Given the description of an element on the screen output the (x, y) to click on. 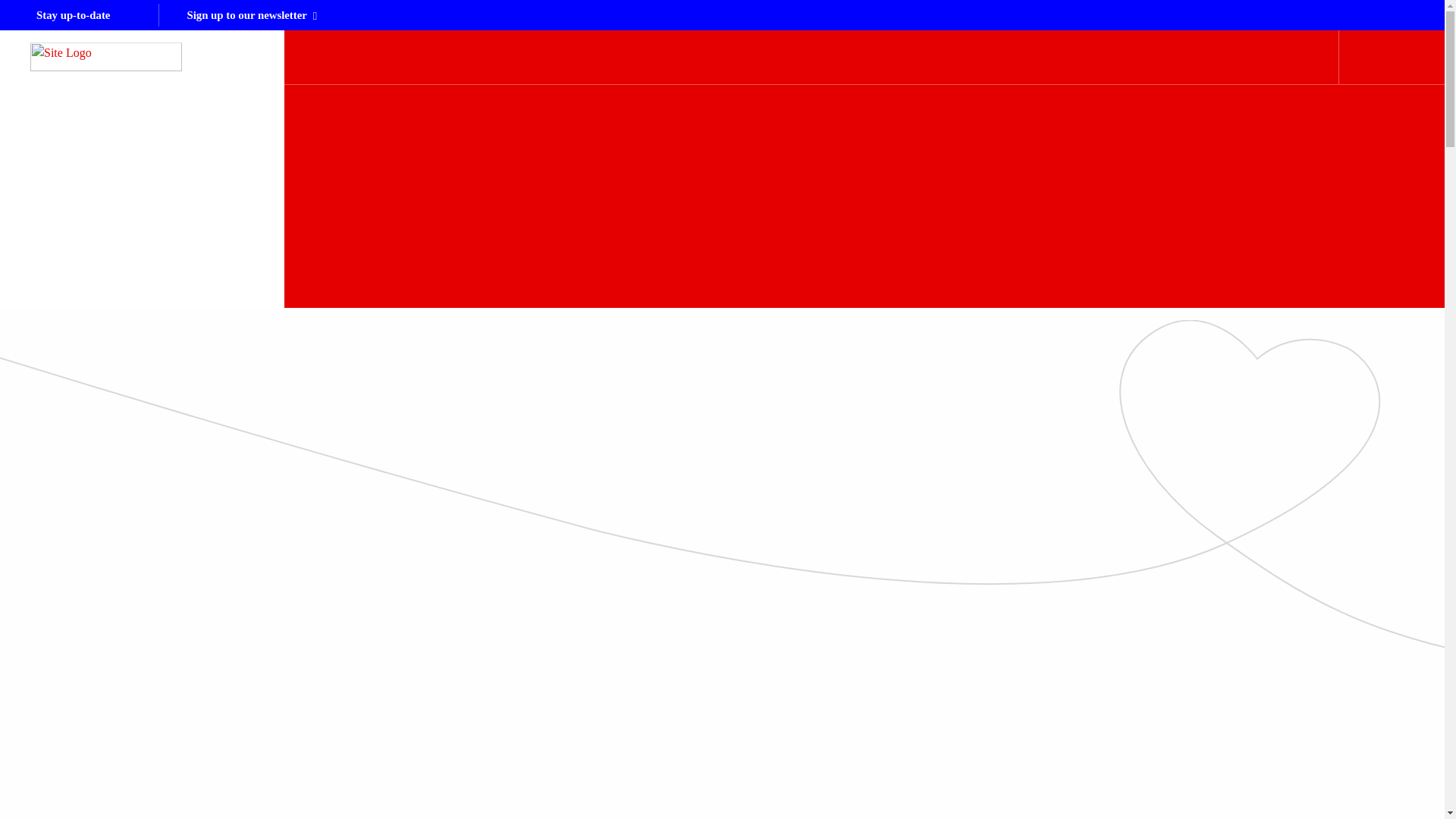
What we do (645, 56)
Latest (797, 56)
Search (1384, 56)
Become a partner (879, 56)
Sign up to our newsletter (251, 15)
Who we are (728, 56)
